Given the description of an element on the screen output the (x, y) to click on. 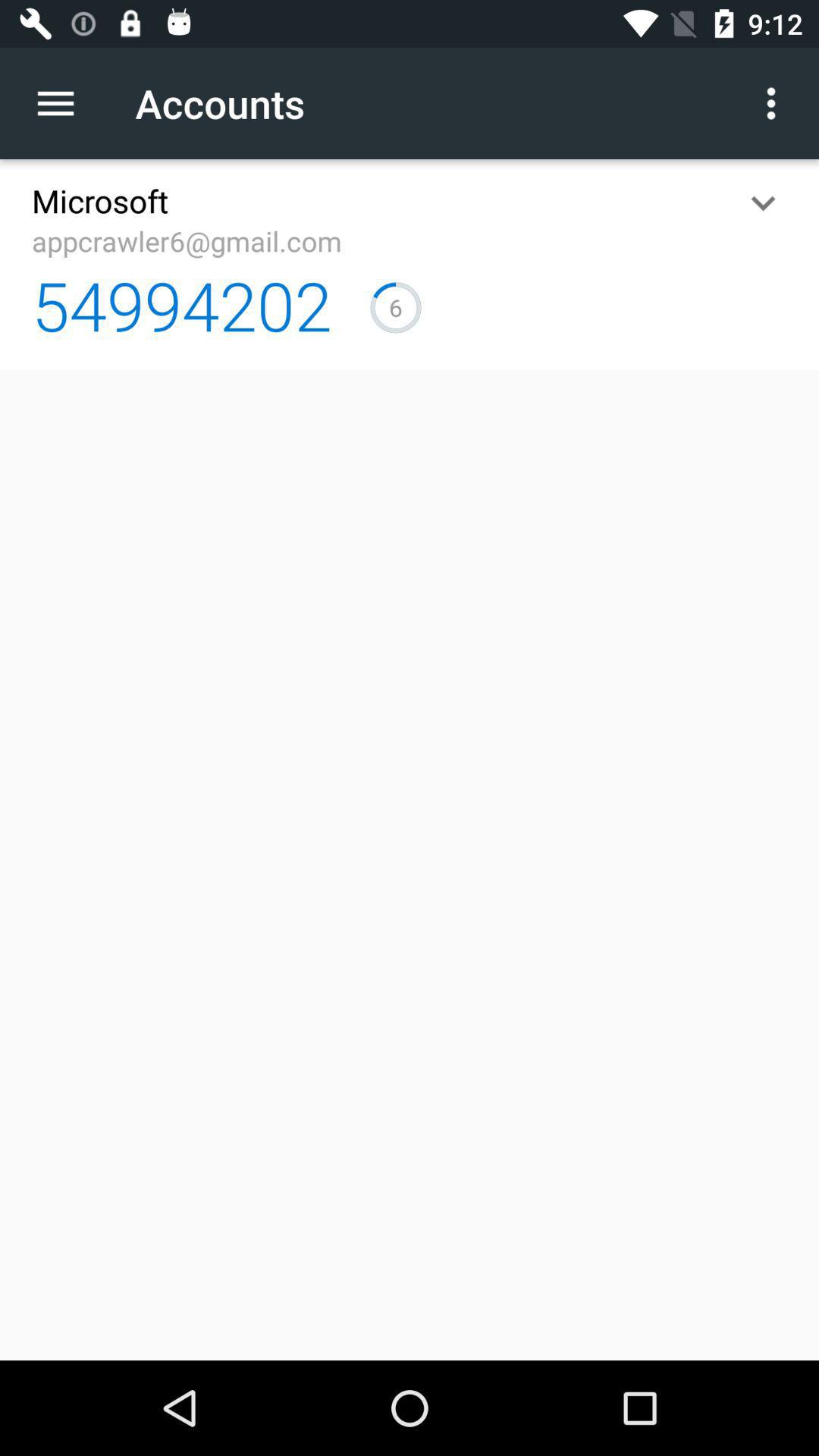
select the icon next to 54994202 item (395, 307)
